Given the description of an element on the screen output the (x, y) to click on. 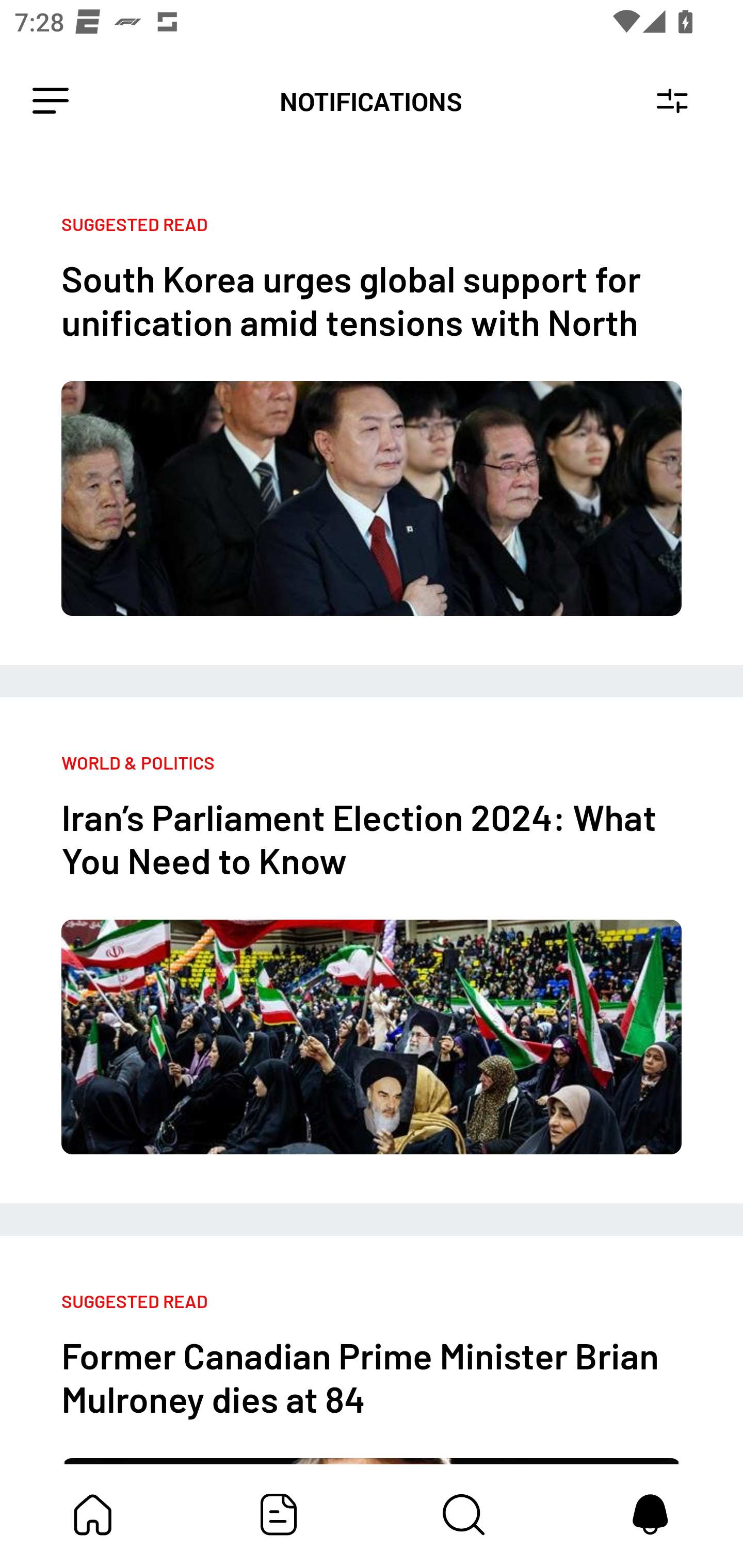
Leading Icon (50, 101)
Notification Settings (672, 101)
My Bundle (92, 1514)
Featured (278, 1514)
Content Store (464, 1514)
